Given the description of an element on the screen output the (x, y) to click on. 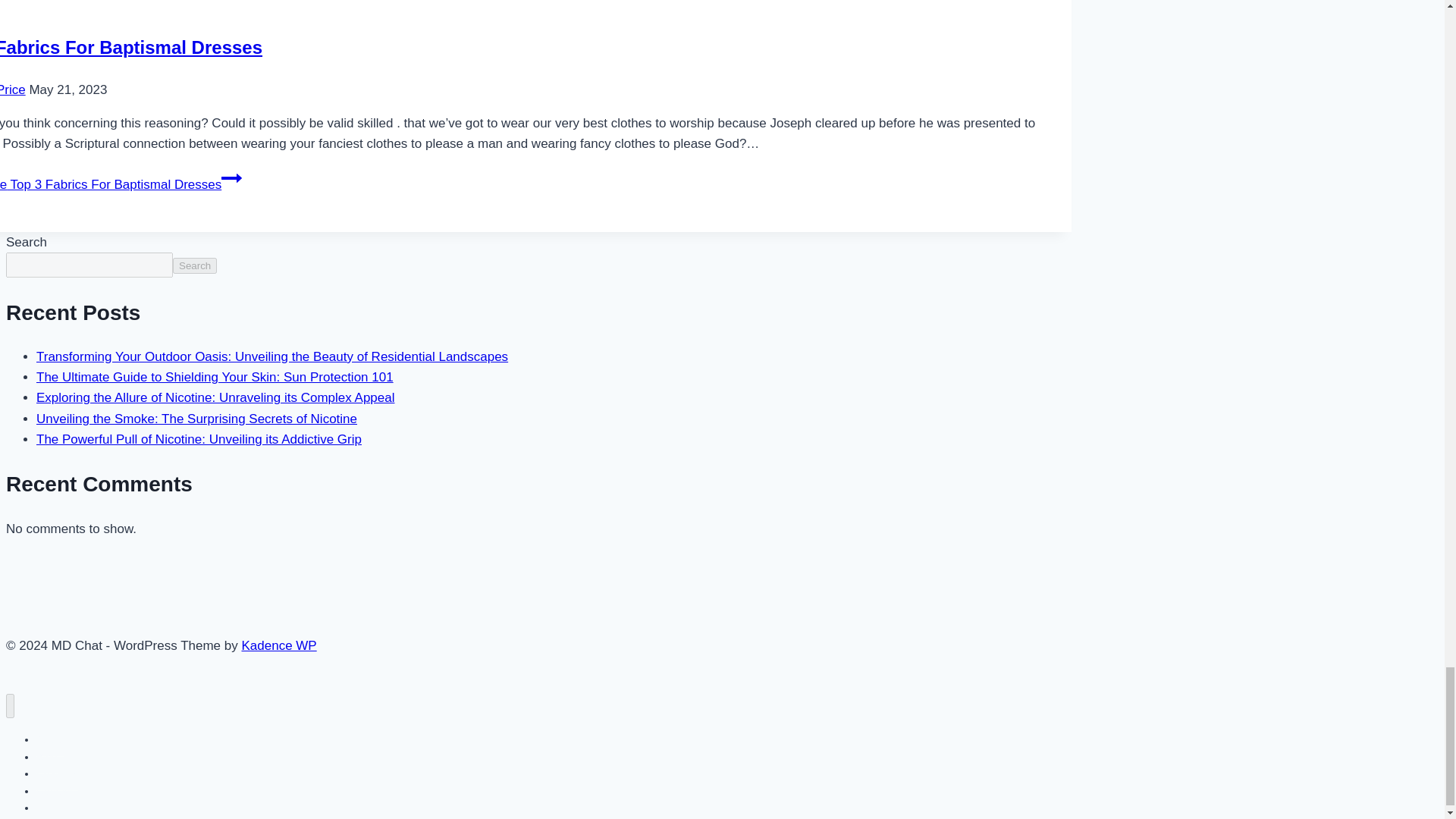
Aaron Price (13, 89)
Top 3 Fabrics For Baptismal Dresses (131, 46)
Continue (231, 178)
